Given the description of an element on the screen output the (x, y) to click on. 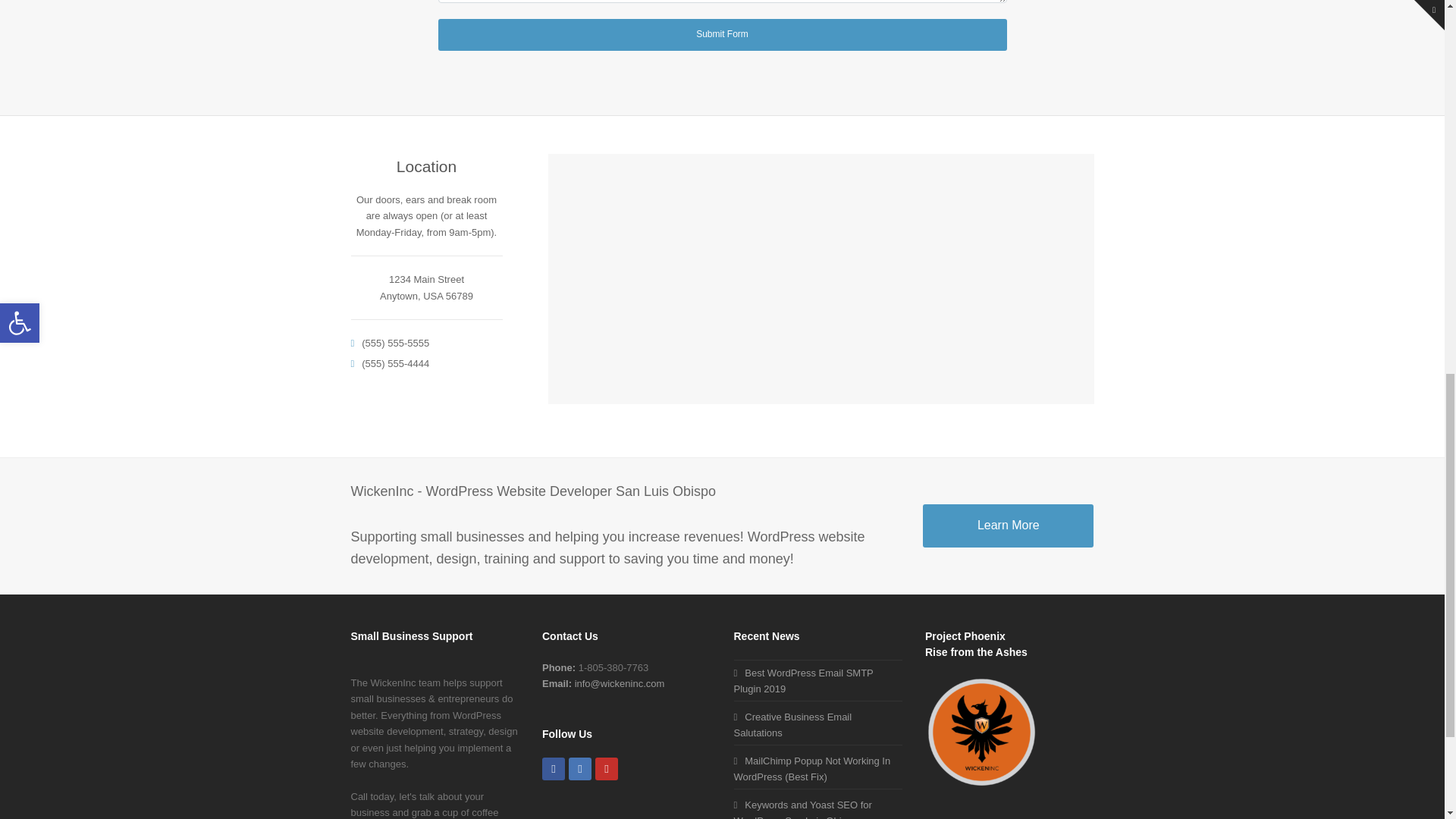
LinkedIn (580, 768)
Submit Form (722, 33)
Youtube (606, 768)
Facebook (552, 768)
